Given the description of an element on the screen output the (x, y) to click on. 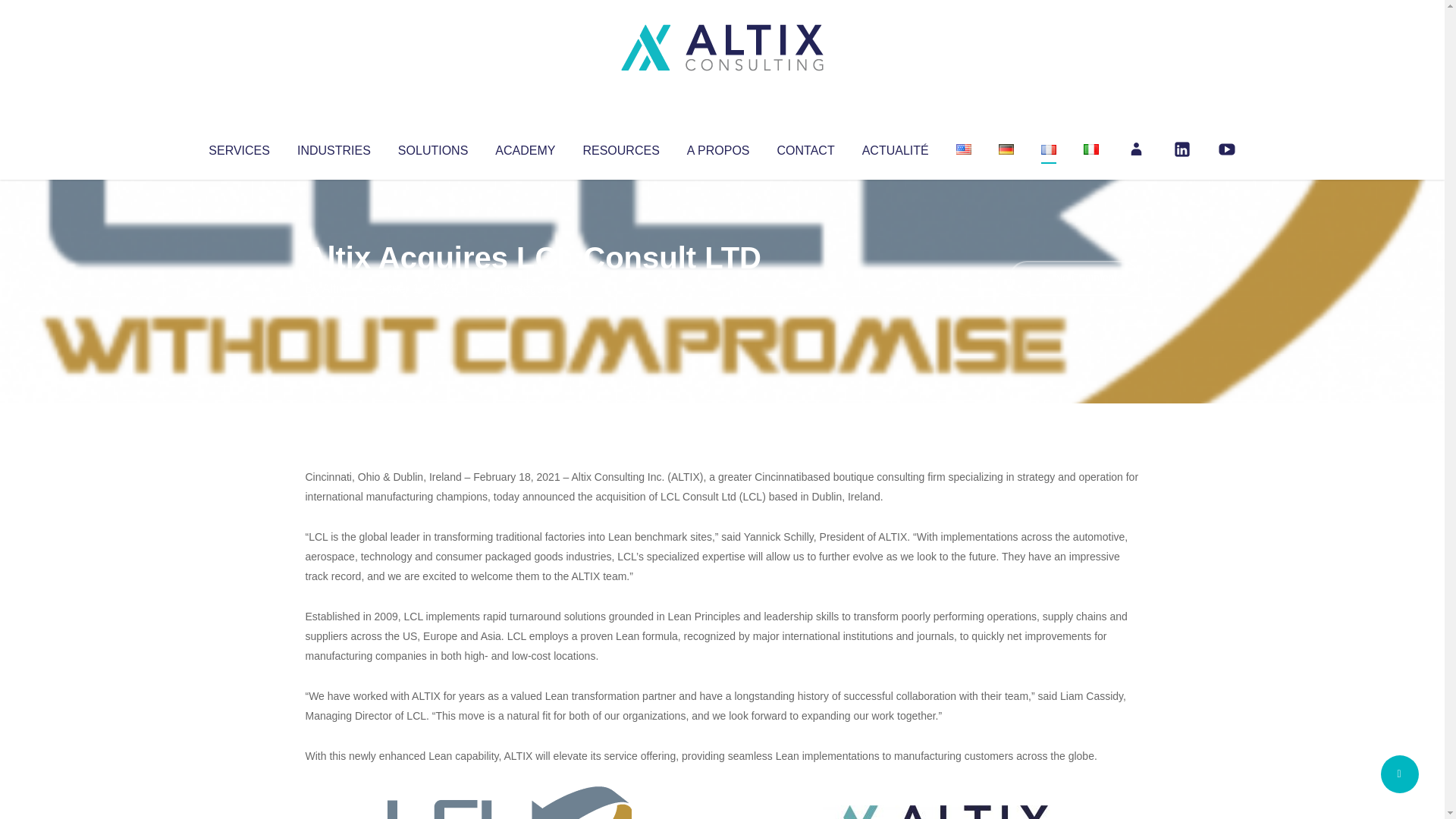
Articles par Altix (333, 287)
Uncategorized (530, 287)
Altix (333, 287)
INDUSTRIES (334, 146)
ACADEMY (524, 146)
SOLUTIONS (432, 146)
SERVICES (238, 146)
No Comments (1073, 278)
RESOURCES (620, 146)
A PROPOS (718, 146)
